Given the description of an element on the screen output the (x, y) to click on. 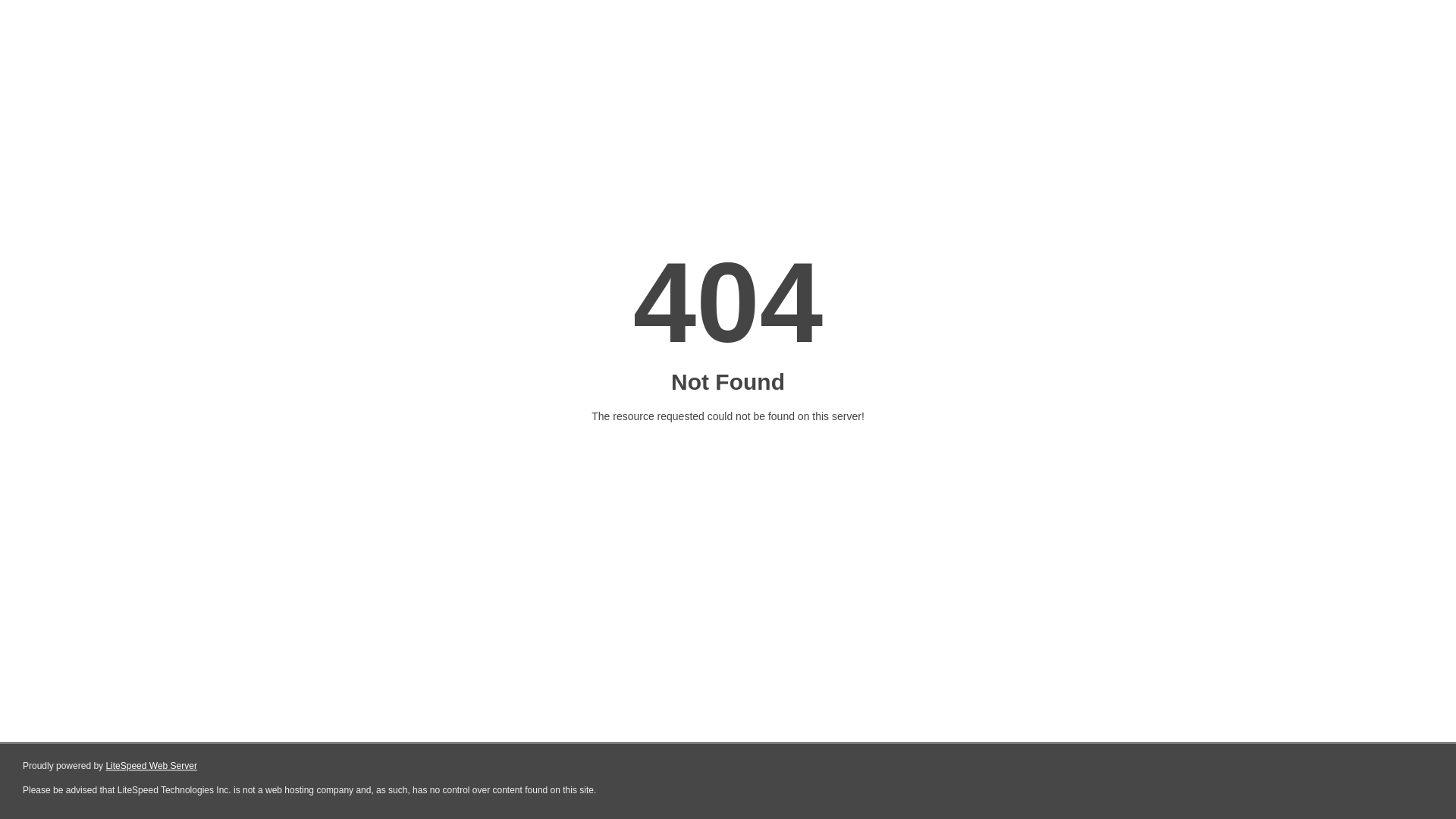
LiteSpeed Web Server Element type: text (151, 765)
